Given the description of an element on the screen output the (x, y) to click on. 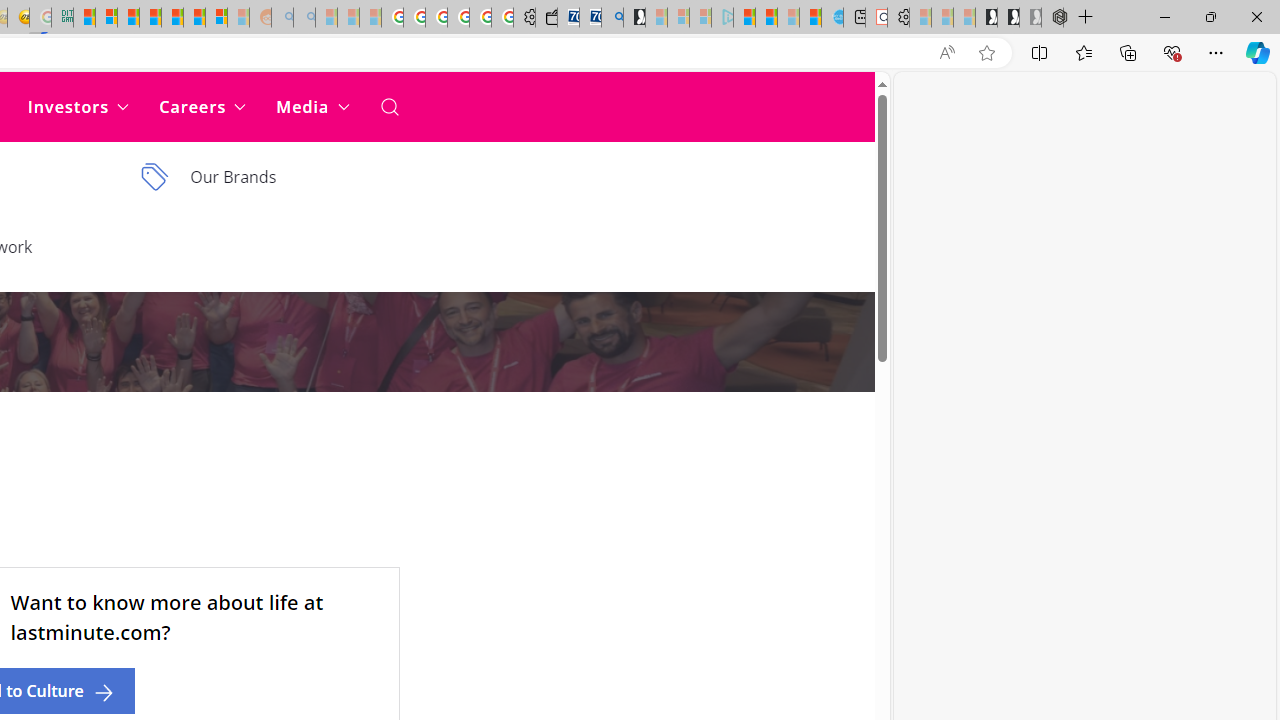
Open Search (388, 106)
